Given the description of an element on the screen output the (x, y) to click on. 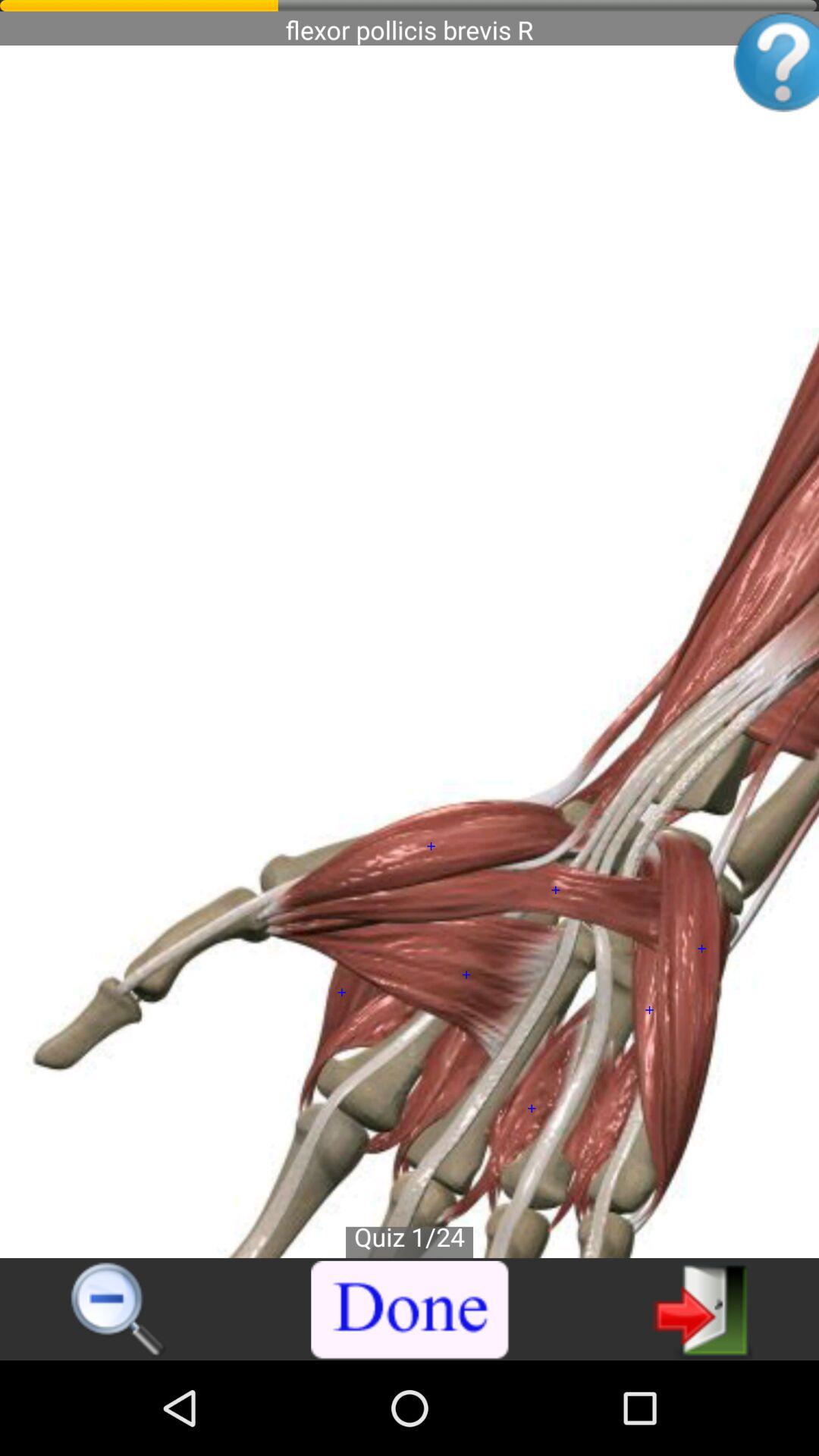
next image (702, 1309)
